Given the description of an element on the screen output the (x, y) to click on. 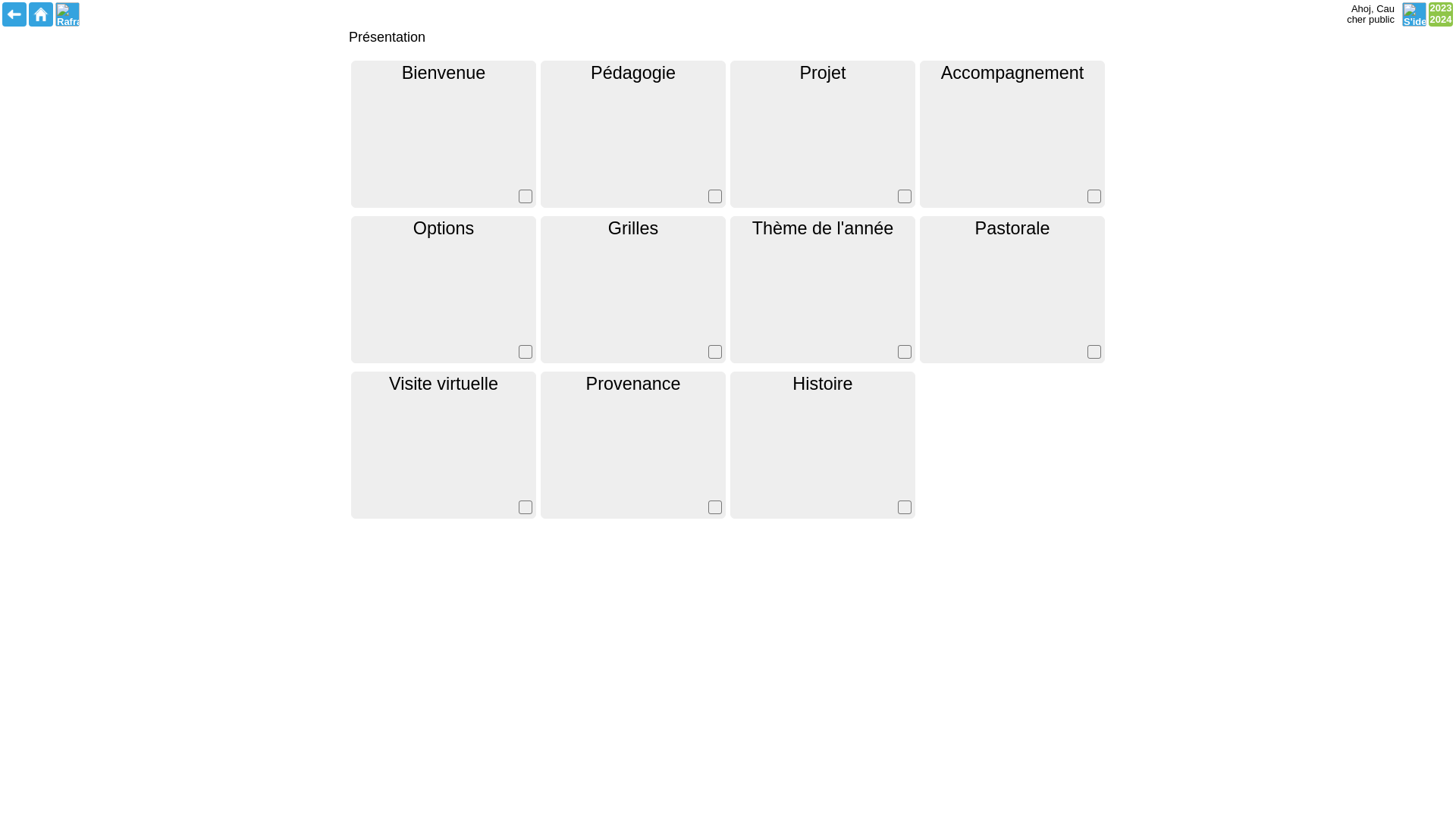
Revenir sur ses pas Element type: hover (14, 14)
